Given the description of an element on the screen output the (x, y) to click on. 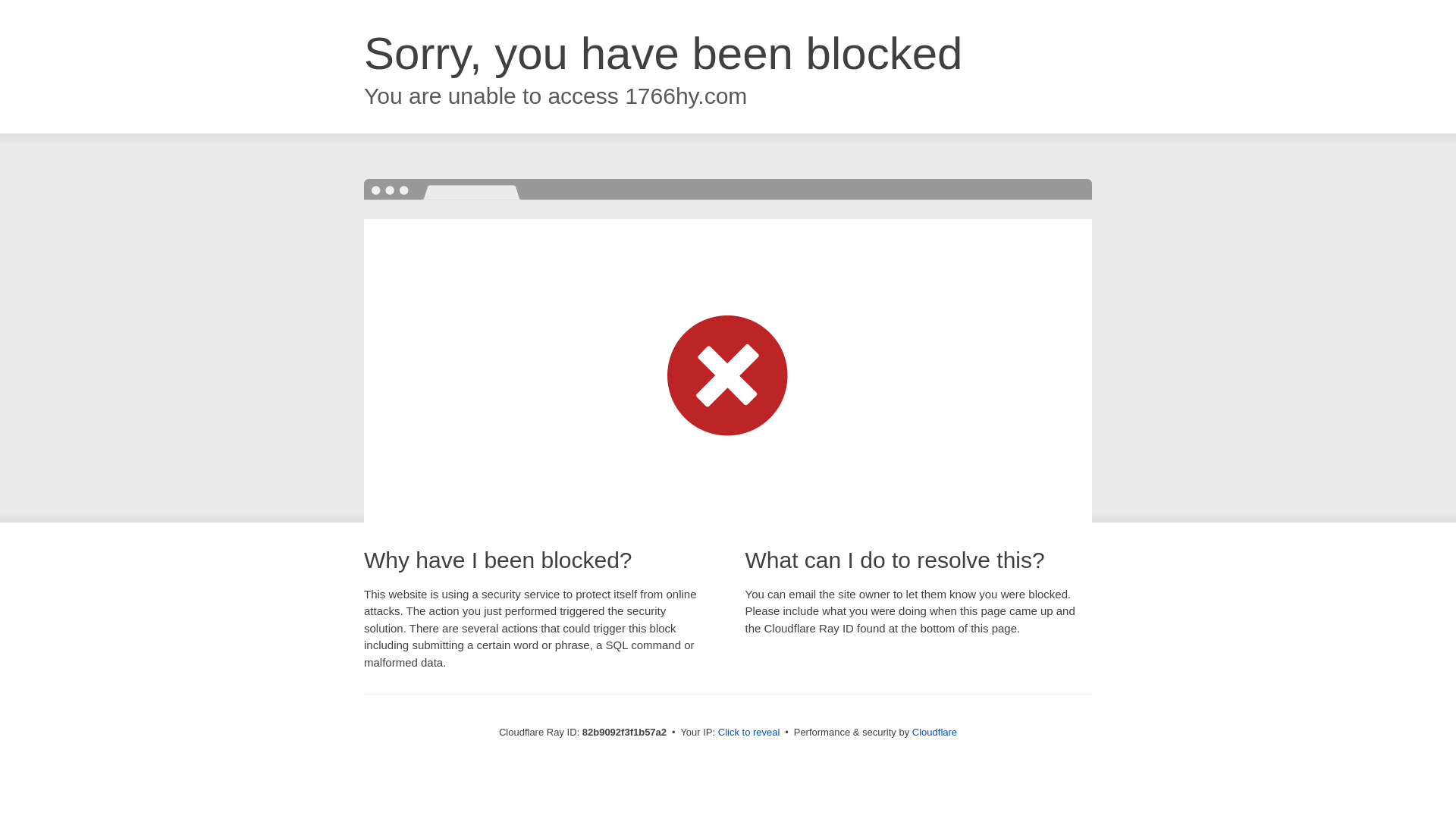
Click to reveal Element type: text (749, 732)
Cloudflare Element type: text (934, 731)
